Given the description of an element on the screen output the (x, y) to click on. 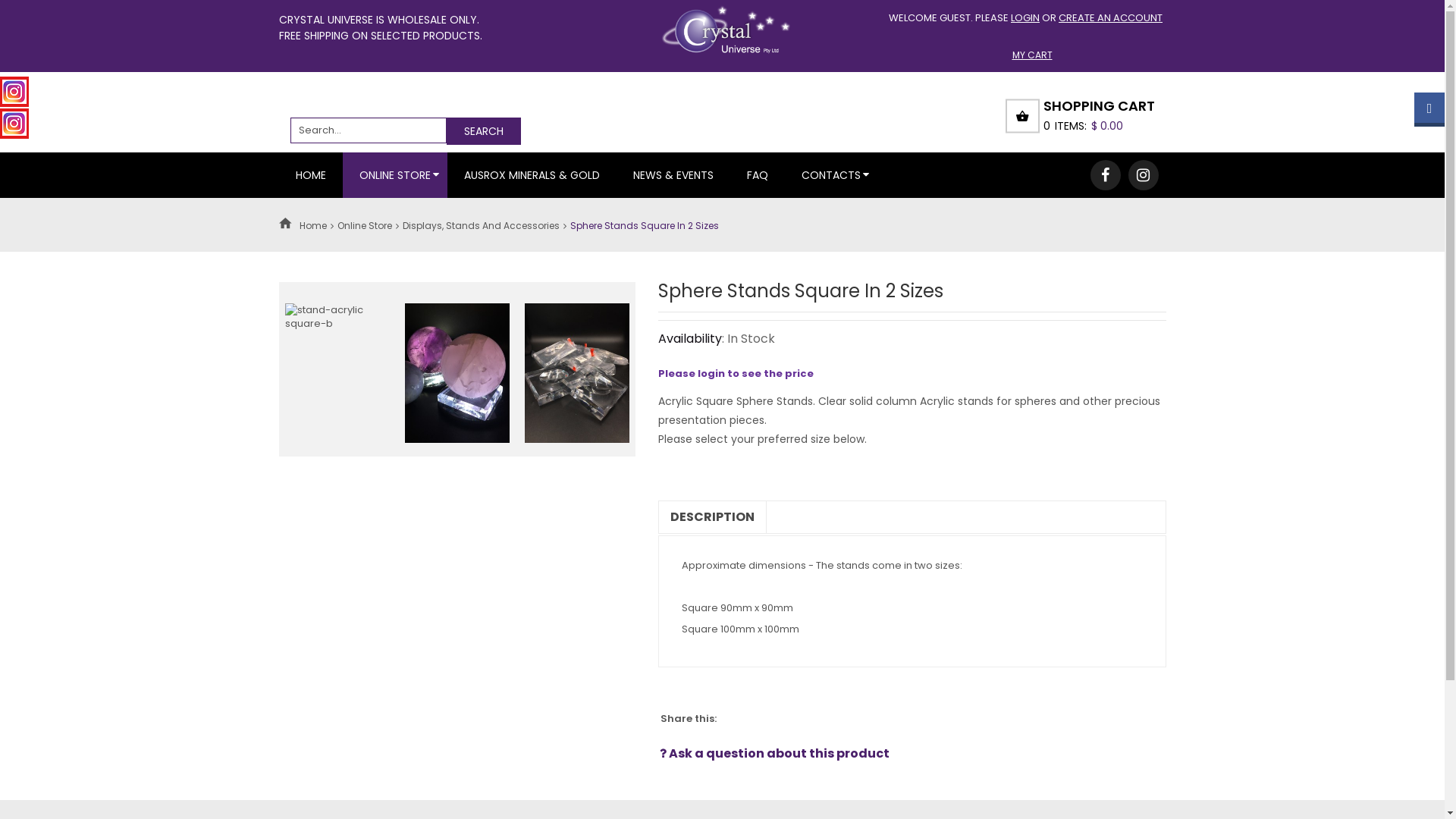
Ask a question about this product Element type: text (774, 753)
MY CART Element type: text (1025, 54)
LOGIN Element type: text (1024, 17)
Home Element type: text (312, 225)
Displays, Stands And Accessories Element type: text (479, 225)
Search Element type: text (482, 130)
NEWS & EVENTS Element type: text (672, 174)
ONLINE STORE Element type: text (394, 174)
DESCRIPTION Element type: text (711, 517)
CONTACTS Element type: text (830, 174)
Online Store Element type: text (363, 225)
AUSROX MINERALS & GOLD Element type: text (531, 174)
HOME Element type: text (310, 174)
FAQ Element type: text (756, 174)
Please login to see the price Element type: text (735, 373)
CREATE AN ACCOUNT Element type: text (1110, 17)
